Given the description of an element on the screen output the (x, y) to click on. 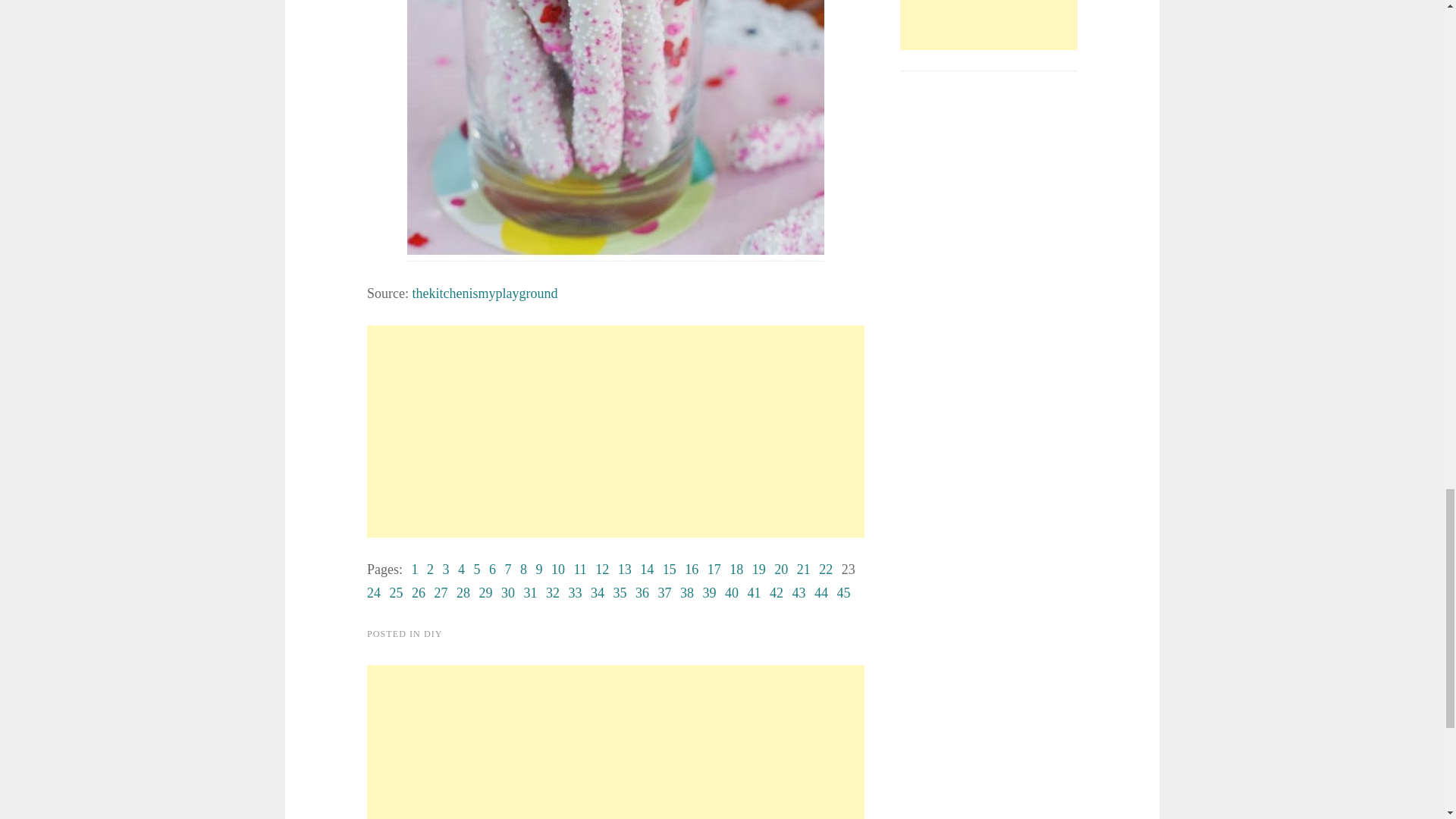
15 (669, 569)
13 (624, 569)
14 (646, 569)
10 (557, 569)
20 (780, 569)
30 (507, 592)
24 (373, 592)
29 (486, 592)
19 (758, 569)
18 (735, 569)
16 (691, 569)
thekitchenismyplayground (484, 293)
22 (825, 569)
12 (601, 569)
17 (713, 569)
